Given the description of an element on the screen output the (x, y) to click on. 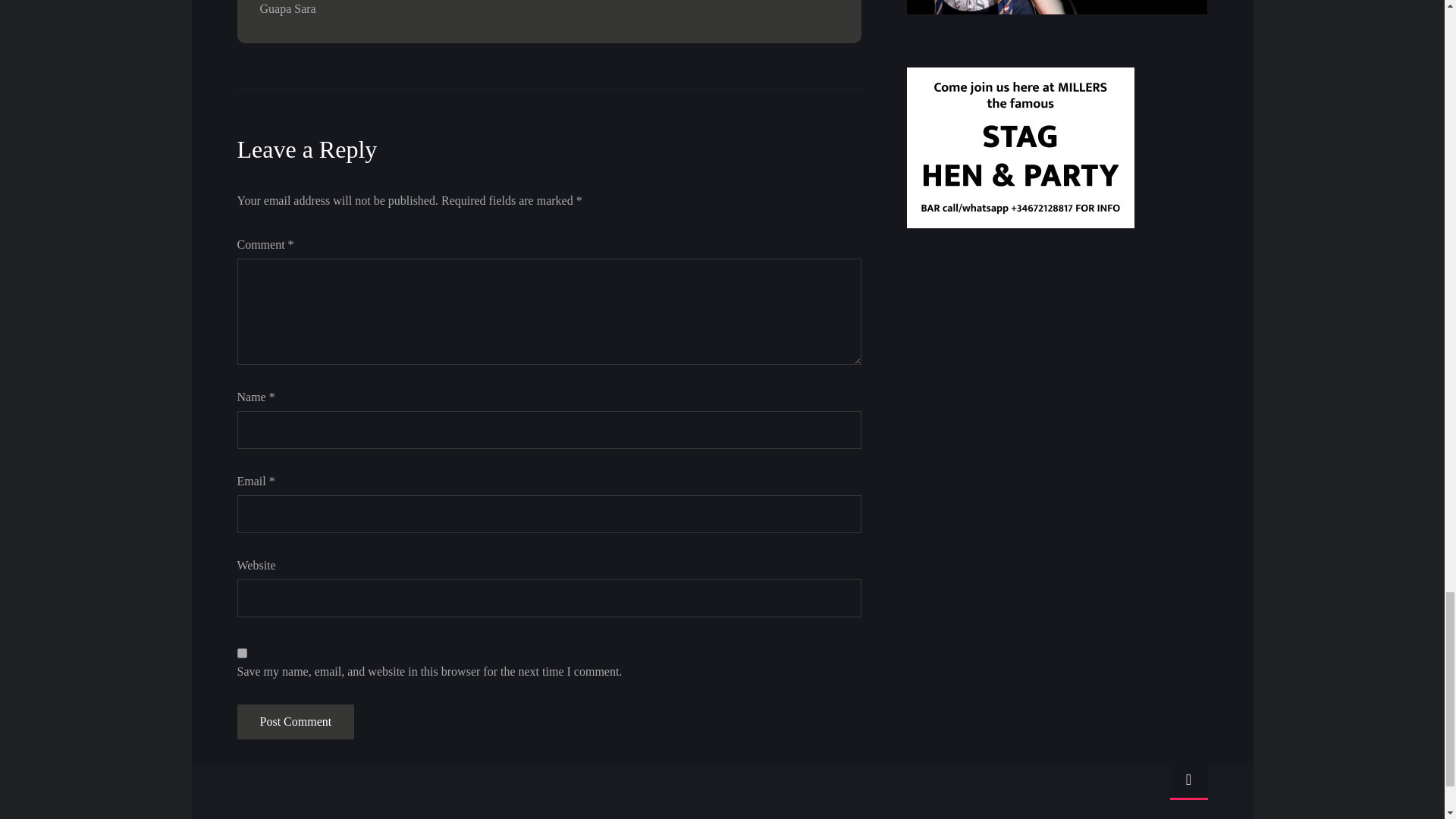
Post Comment (294, 721)
yes (240, 653)
Post Comment (294, 721)
